Given the description of an element on the screen output the (x, y) to click on. 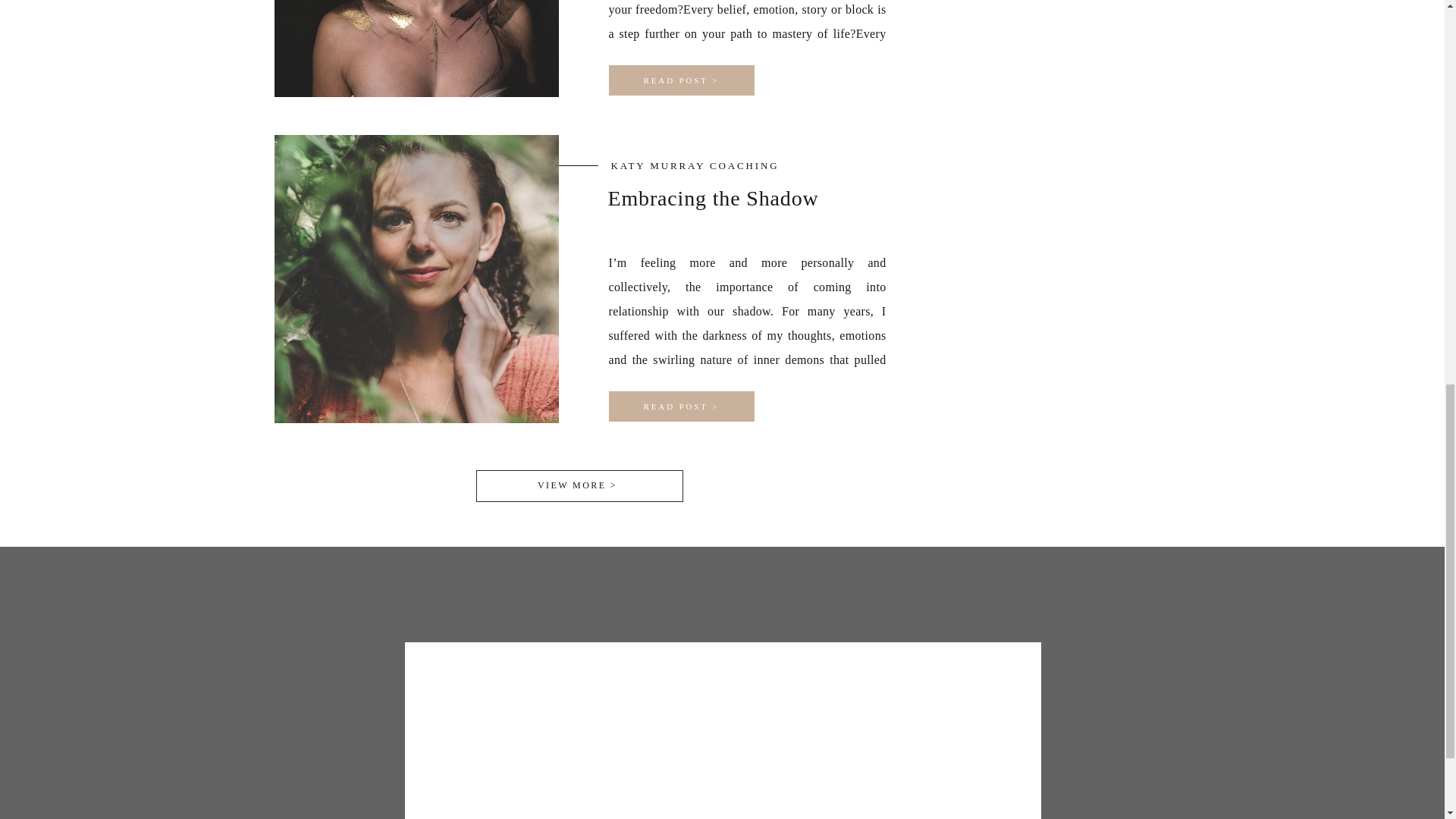
Embracing the Shadow (713, 197)
KATY MURRAY COACHING (694, 165)
Alchemising the Shadow (681, 80)
Embracing the Shadow (681, 406)
Alchemising the Shadow (681, 80)
Embracing the Shadow (681, 406)
